Given the description of an element on the screen output the (x, y) to click on. 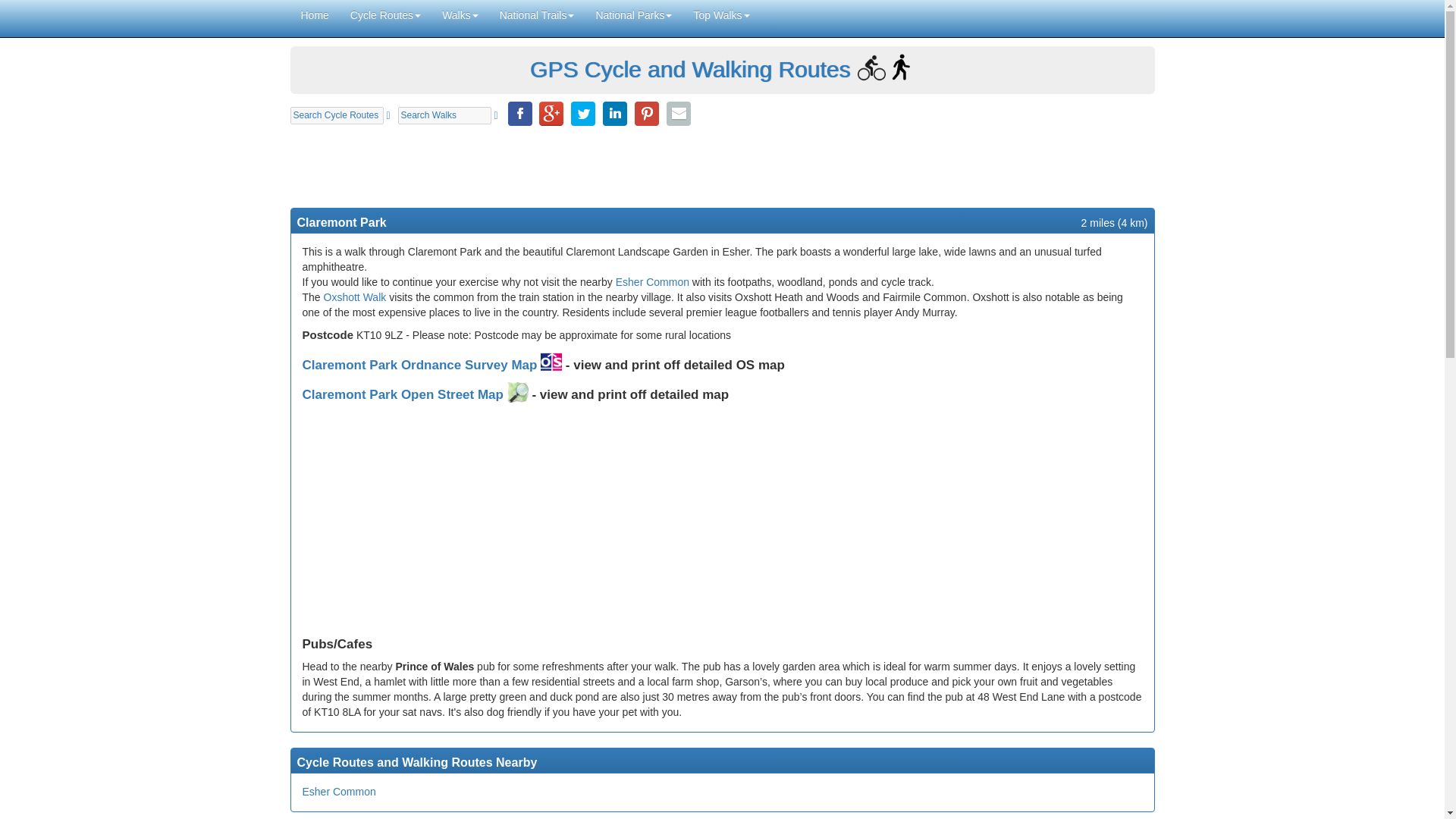
Advertisement (721, 165)
Walks (459, 15)
Cycle Routes (384, 15)
National Trails (537, 15)
Home (314, 15)
